Given the description of an element on the screen output the (x, y) to click on. 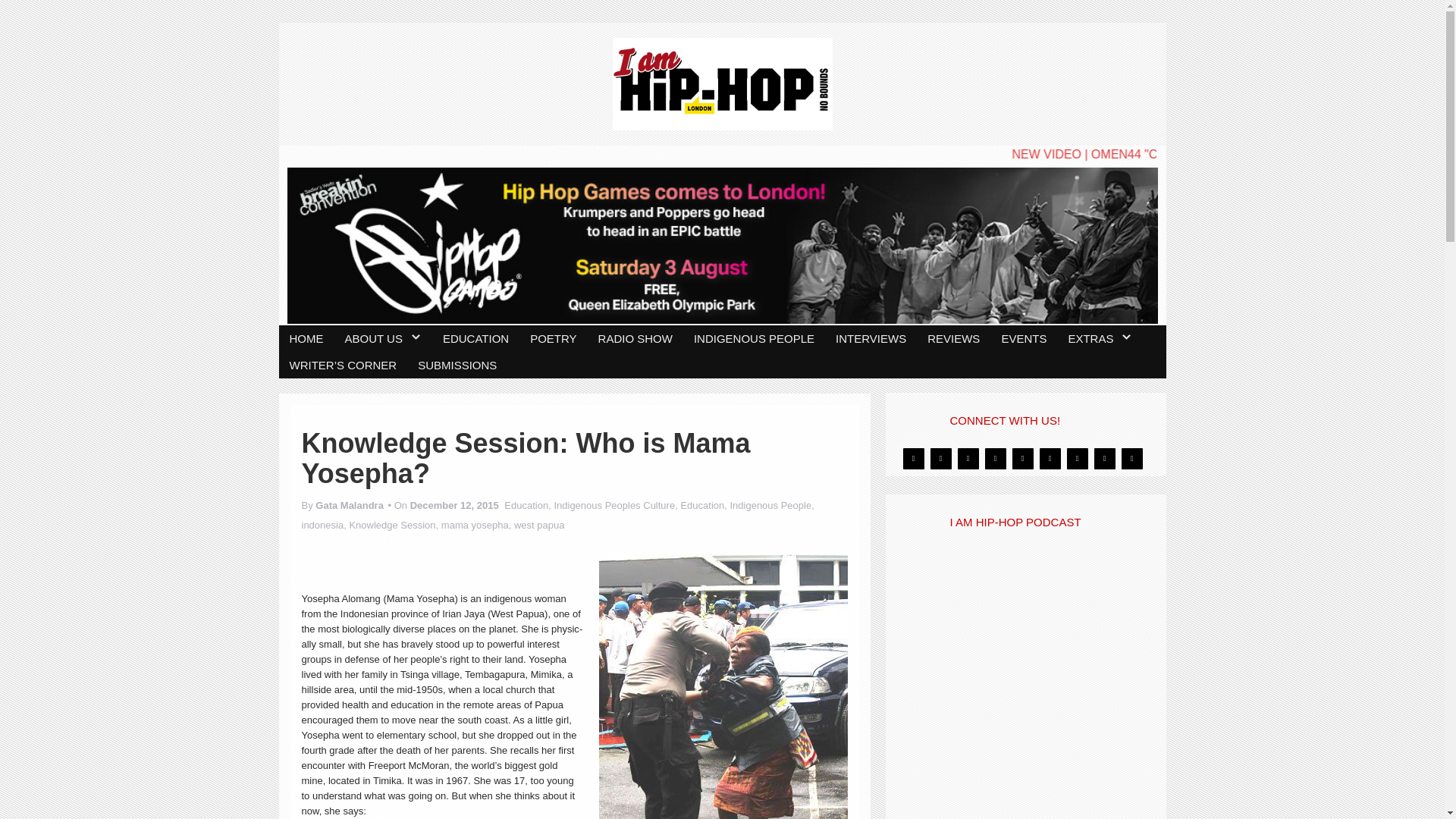
ABOUT US (346, 337)
Tumblr (1131, 429)
Facebook (940, 429)
INTERVIEWS (742, 337)
SUBMISSIONS (1090, 337)
EXTRAS (909, 337)
Soundcloud (1104, 429)
HOME (297, 337)
RADIO SHOW (536, 337)
EDUCATION (411, 337)
